Given the description of an element on the screen output the (x, y) to click on. 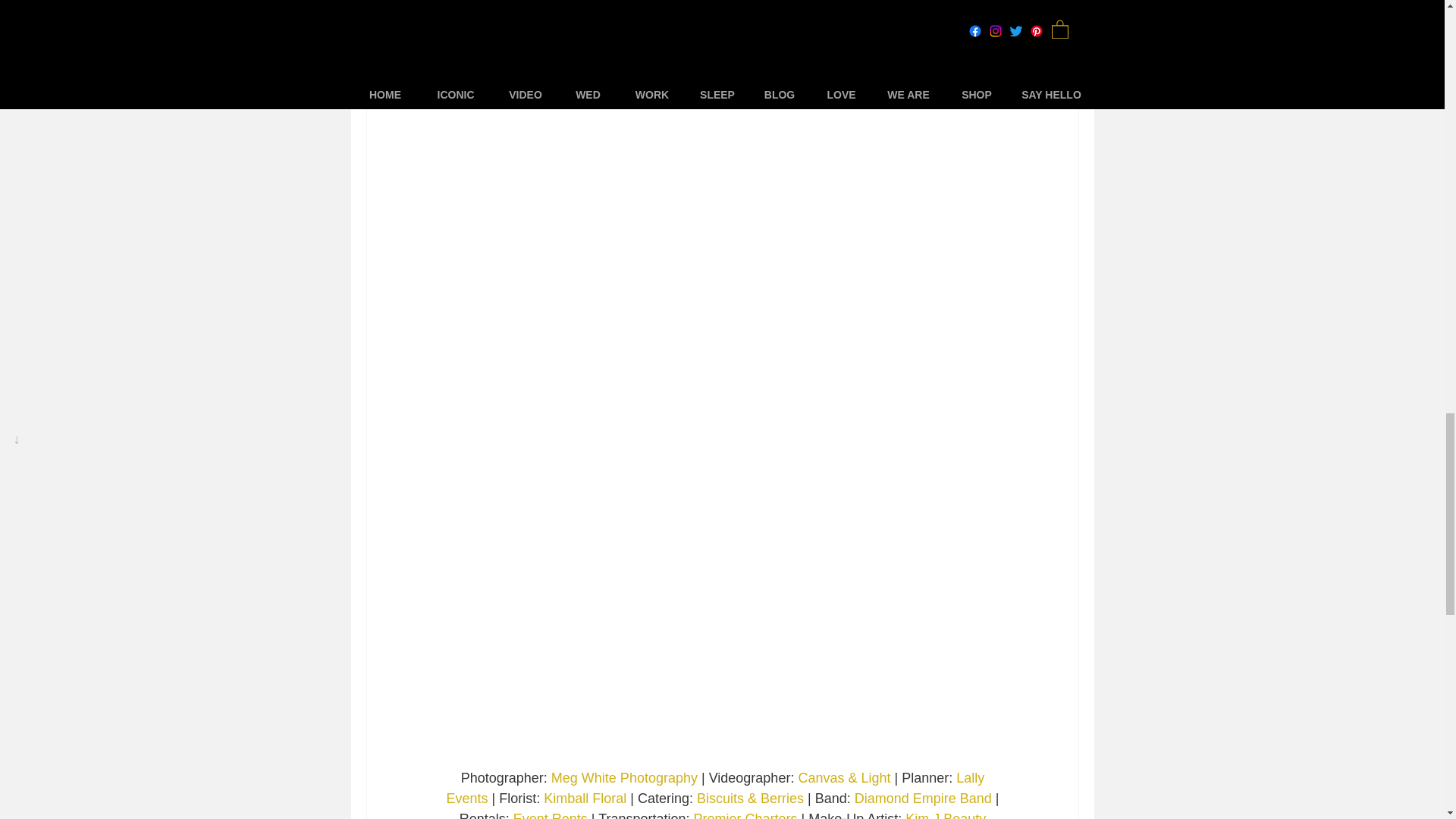
Kimball Floral (584, 798)
Kim J Beauty (945, 815)
 Diamond Empire Band (920, 798)
Event Rents (549, 815)
Premier Charters (744, 815)
Meg White Photography (623, 778)
Lally Events (716, 788)
